Given the description of an element on the screen output the (x, y) to click on. 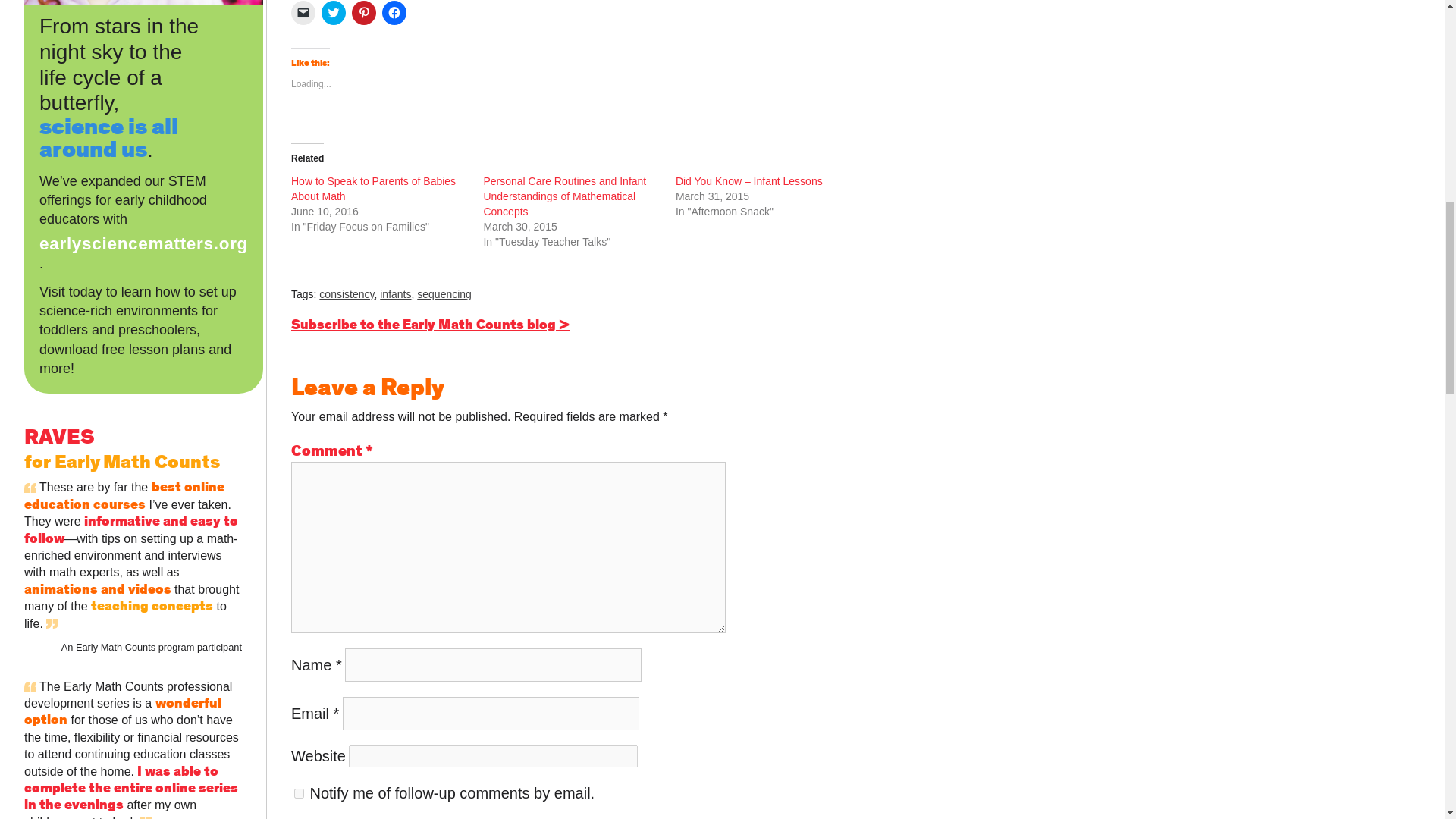
Click to share on Pinterest (363, 12)
Click to email a link to a friend (303, 12)
How to Speak to Parents of Babies About Math (373, 188)
Click to share on Facebook (393, 12)
subscribe (299, 793)
Click to share on Twitter (333, 12)
